Given the description of an element on the screen output the (x, y) to click on. 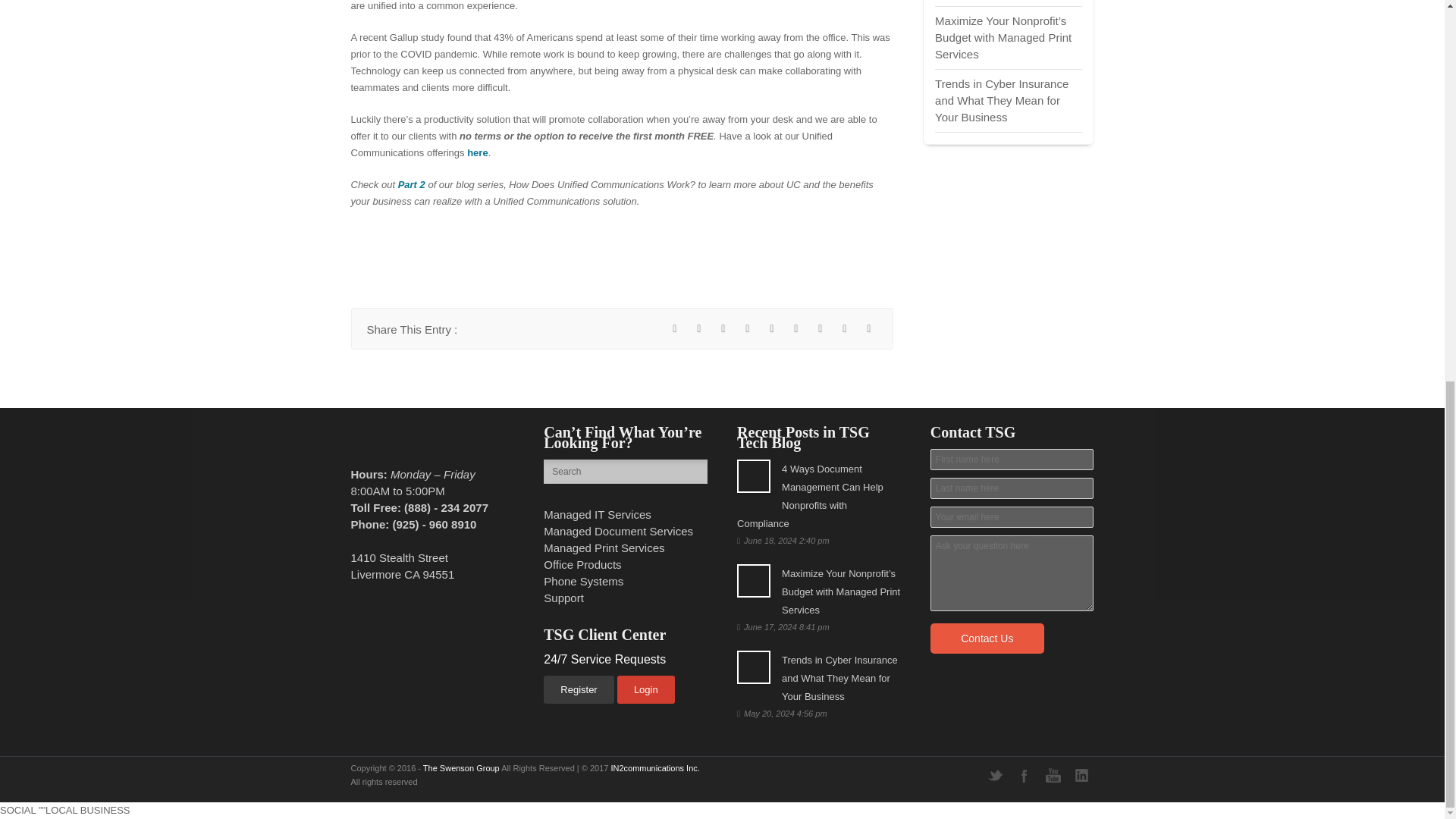
Mail (868, 328)
Twitter (699, 328)
Facebook (674, 328)
VK (844, 328)
LinkedIN (723, 328)
Pinterest (796, 328)
Reddit (747, 328)
Google Plus (772, 328)
Tumblr (820, 328)
Contact Us (986, 638)
